Given the description of an element on the screen output the (x, y) to click on. 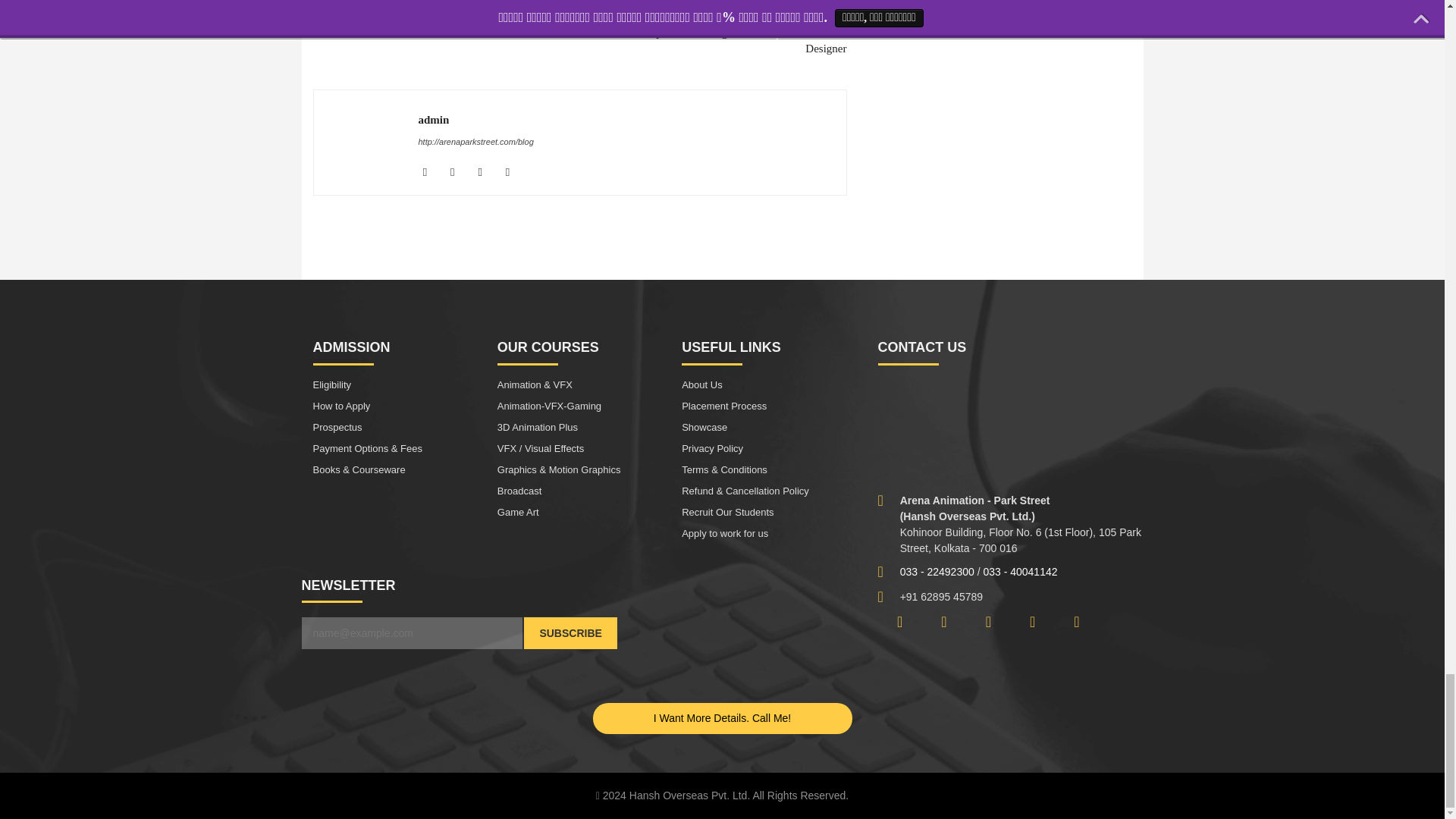
Instagram (457, 171)
Twitter (485, 171)
Youtube (512, 171)
Facebook (431, 171)
